Given the description of an element on the screen output the (x, y) to click on. 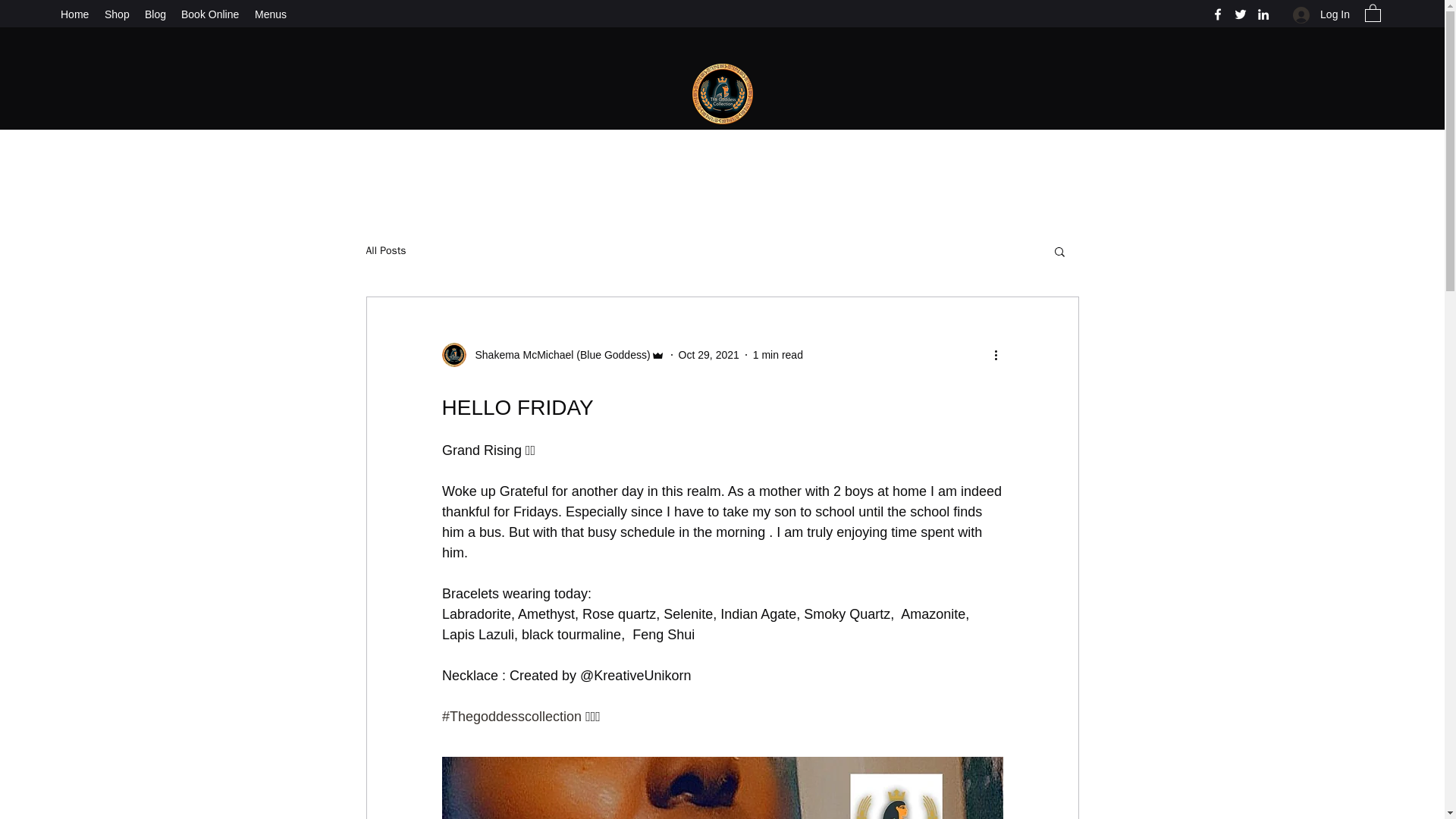
Menus (271, 14)
1 min read (777, 354)
Home (74, 14)
All Posts (385, 250)
Shop (116, 14)
Oct 29, 2021 (708, 354)
Blog (154, 14)
Book Online (210, 14)
Log In (1320, 14)
